Given the description of an element on the screen output the (x, y) to click on. 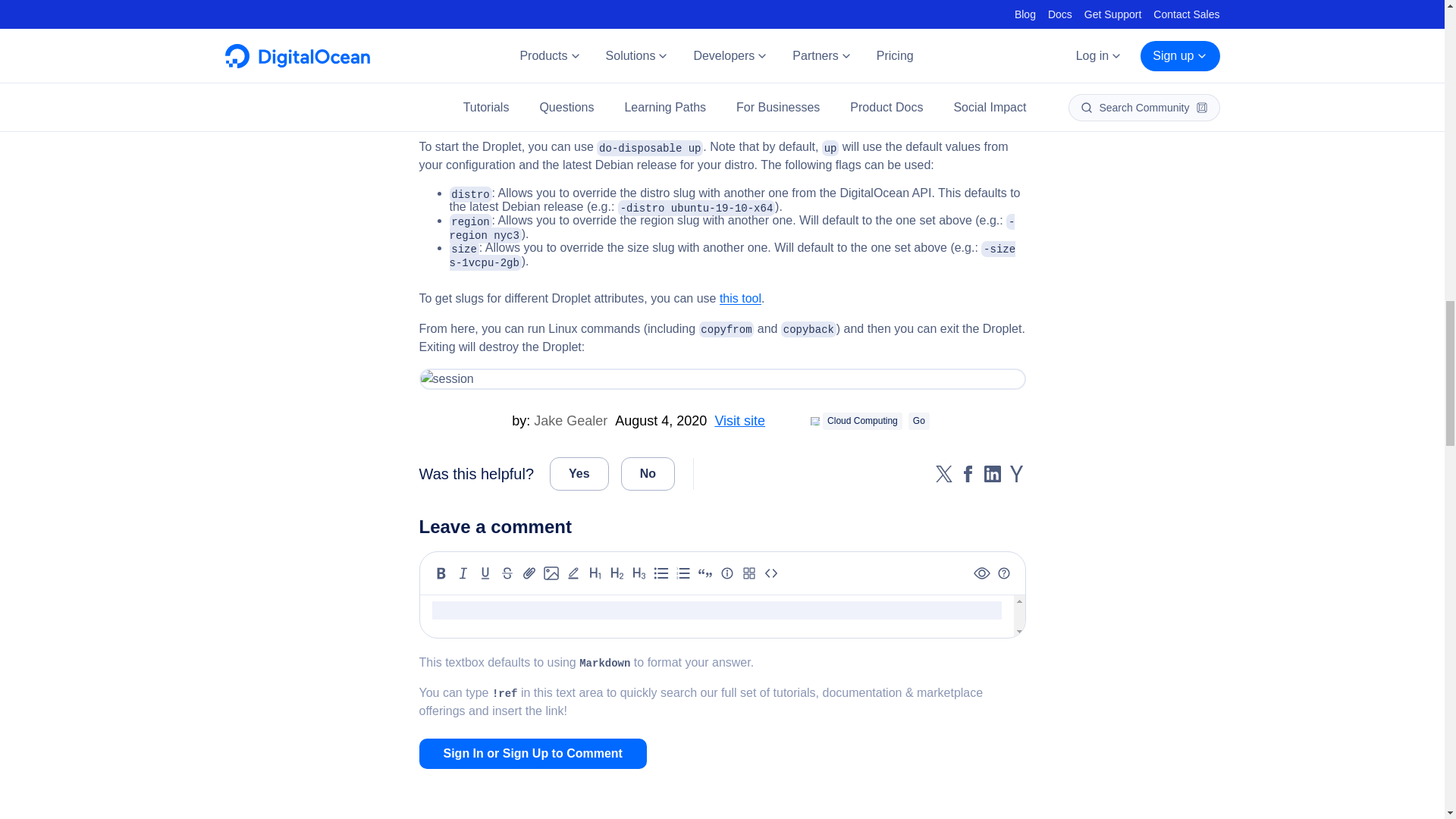
Heading 1 (594, 573)
Image (550, 573)
Share to Facebook (967, 474)
Link (528, 573)
Strikethrough (506, 573)
Table (748, 573)
Share to YCombinator (1016, 474)
Ordered list (681, 573)
Underline (485, 573)
Code (769, 573)
Heading 2 (617, 573)
Share to LinkedIn (991, 474)
Callout (726, 573)
Bold (440, 573)
Heading 3 (637, 573)
